Given the description of an element on the screen output the (x, y) to click on. 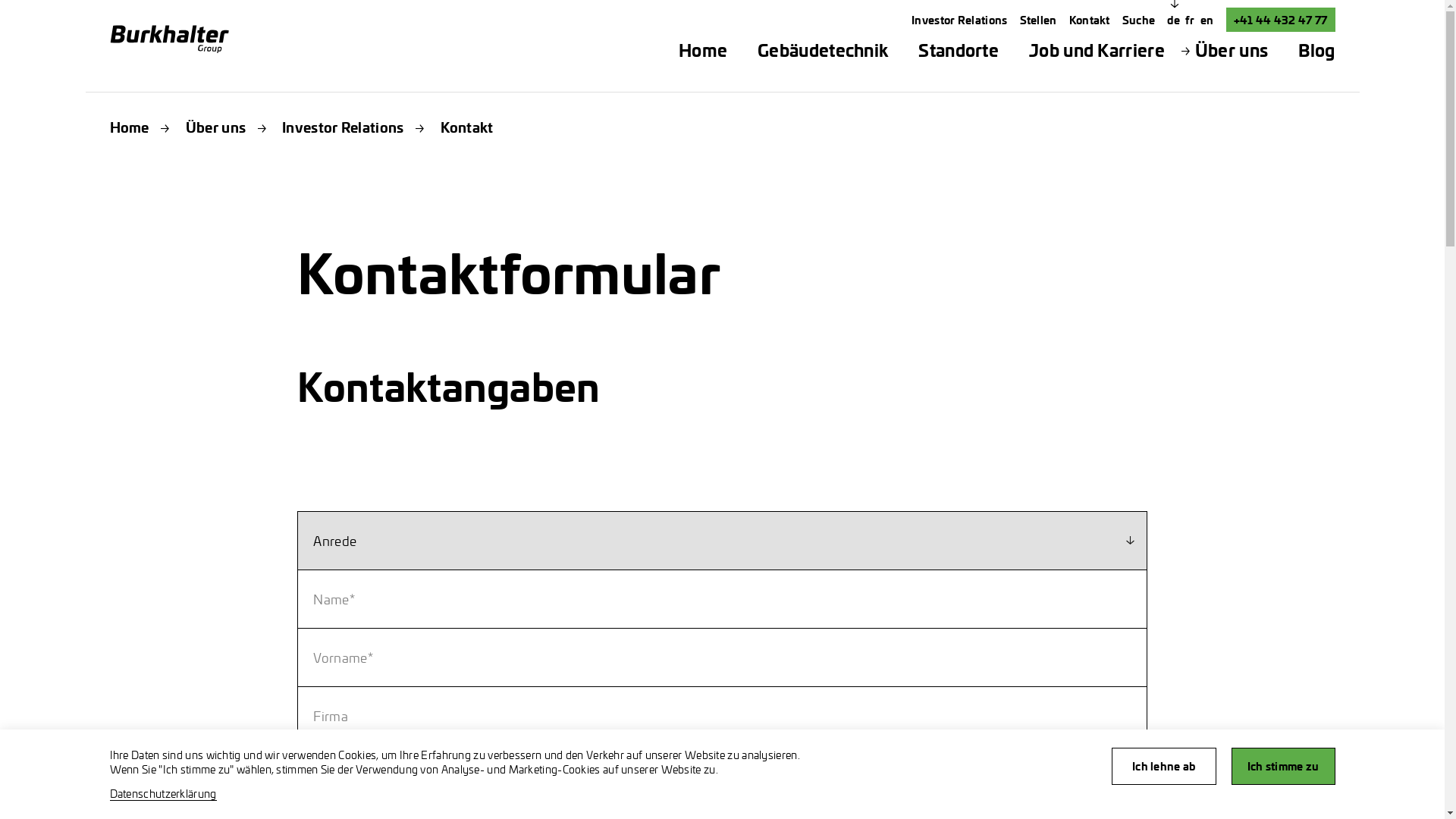
Ich stimme zu Element type: text (1283, 765)
Standorte Element type: text (958, 49)
Investor Relations Element type: text (959, 20)
Home Element type: text (128, 126)
Suche Element type: text (1138, 20)
en Element type: text (1207, 20)
Investor Relations Element type: text (342, 126)
Job und Karriere Element type: text (1096, 49)
Home Element type: text (702, 49)
fr Element type: text (1191, 20)
Blog Element type: text (1316, 49)
de Element type: text (1174, 20)
Stellen Element type: text (1038, 20)
Kontakt Element type: text (1089, 20)
+41 44 432 47 77 Element type: text (1280, 19)
Ich lehne ab Element type: text (1163, 765)
